Given the description of an element on the screen output the (x, y) to click on. 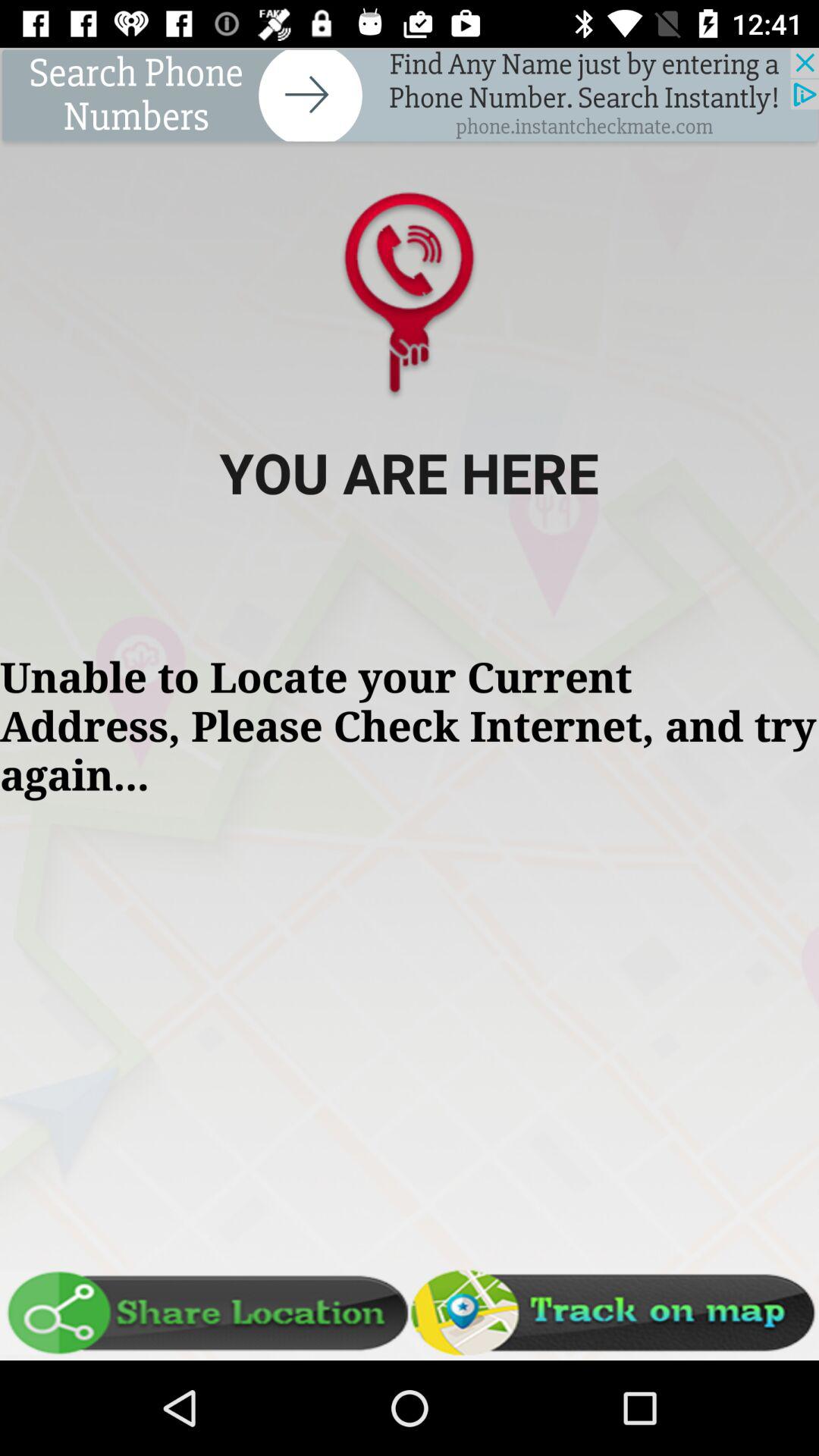
toggle map tracker (614, 1312)
